Given the description of an element on the screen output the (x, y) to click on. 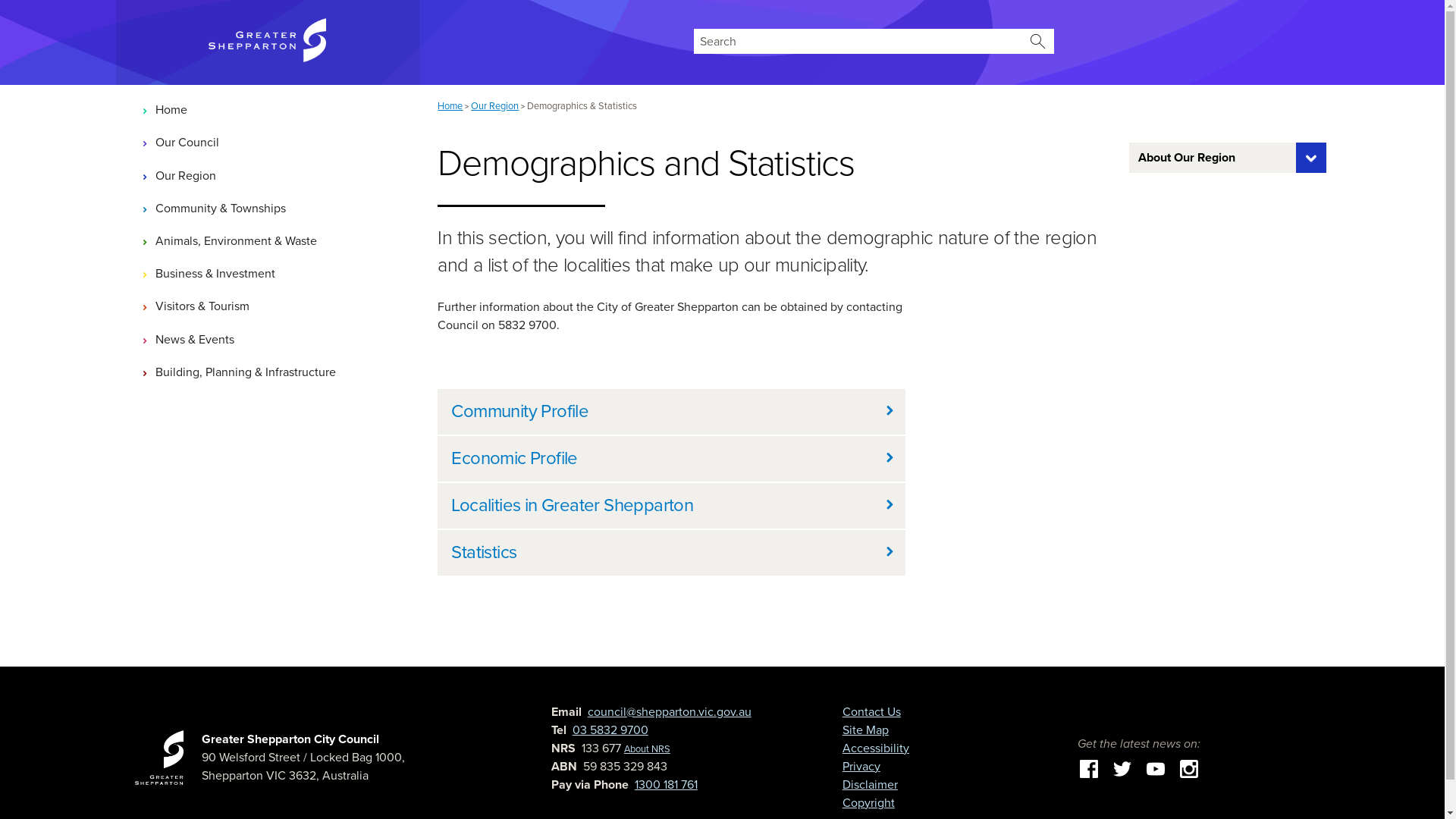
Facebook Element type: hover (1088, 767)
Privacy Element type: text (861, 766)
Our Region Element type: text (267, 175)
Twitter Element type: hover (1122, 767)
Business & Investment Element type: text (267, 273)
YouTube Element type: hover (1155, 767)
Statistics Element type: text (671, 552)
Search Element type: hover (1037, 40)
Community Profile Element type: text (671, 411)
Copyright Element type: text (868, 802)
Visitors & Tourism Element type: text (267, 306)
Animals, Environment & Waste Element type: text (267, 240)
Instagram Element type: hover (1188, 767)
Accessibility Element type: text (875, 748)
About NRS Element type: text (647, 749)
Community & Townships Element type: text (267, 207)
Greater Shepparton City Council Element type: text (290, 738)
Contact Us Element type: text (871, 711)
Localities in Greater Shepparton Element type: text (671, 505)
Economic Profile Element type: text (671, 458)
1300 181 761 Element type: text (665, 784)
Disclaimer Element type: text (869, 784)
03 5832 9700 Element type: text (610, 729)
About Our Region Element type: text (1228, 157)
News & Events Element type: text (267, 339)
council@shepparton.vic.gov.au Element type: text (669, 711)
Home Element type: text (449, 106)
Our Council Element type: text (267, 142)
Site Map Element type: text (865, 729)
Building, Planning & Infrastructure Element type: text (267, 371)
Our Region Element type: text (494, 106)
Home Element type: text (267, 110)
